Given the description of an element on the screen output the (x, y) to click on. 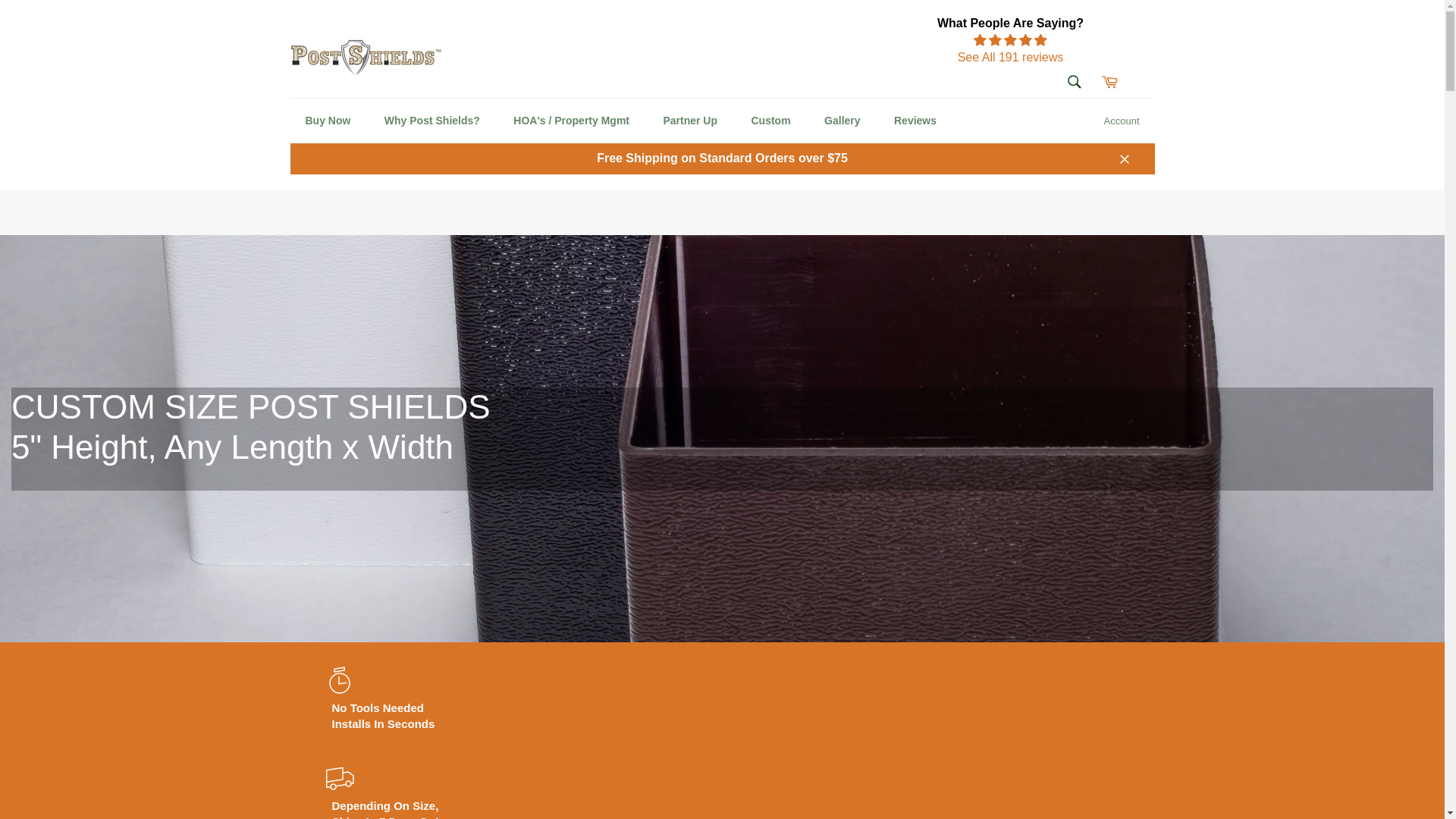
Reviews (915, 120)
Account (1121, 121)
Cart (1109, 81)
See All 191 reviews (1010, 48)
Partner Up (689, 120)
Custom (770, 120)
Close (1123, 158)
Gallery (842, 120)
Search (1074, 81)
Buy Now (327, 120)
Why Post Shields? (432, 120)
